Given the description of an element on the screen output the (x, y) to click on. 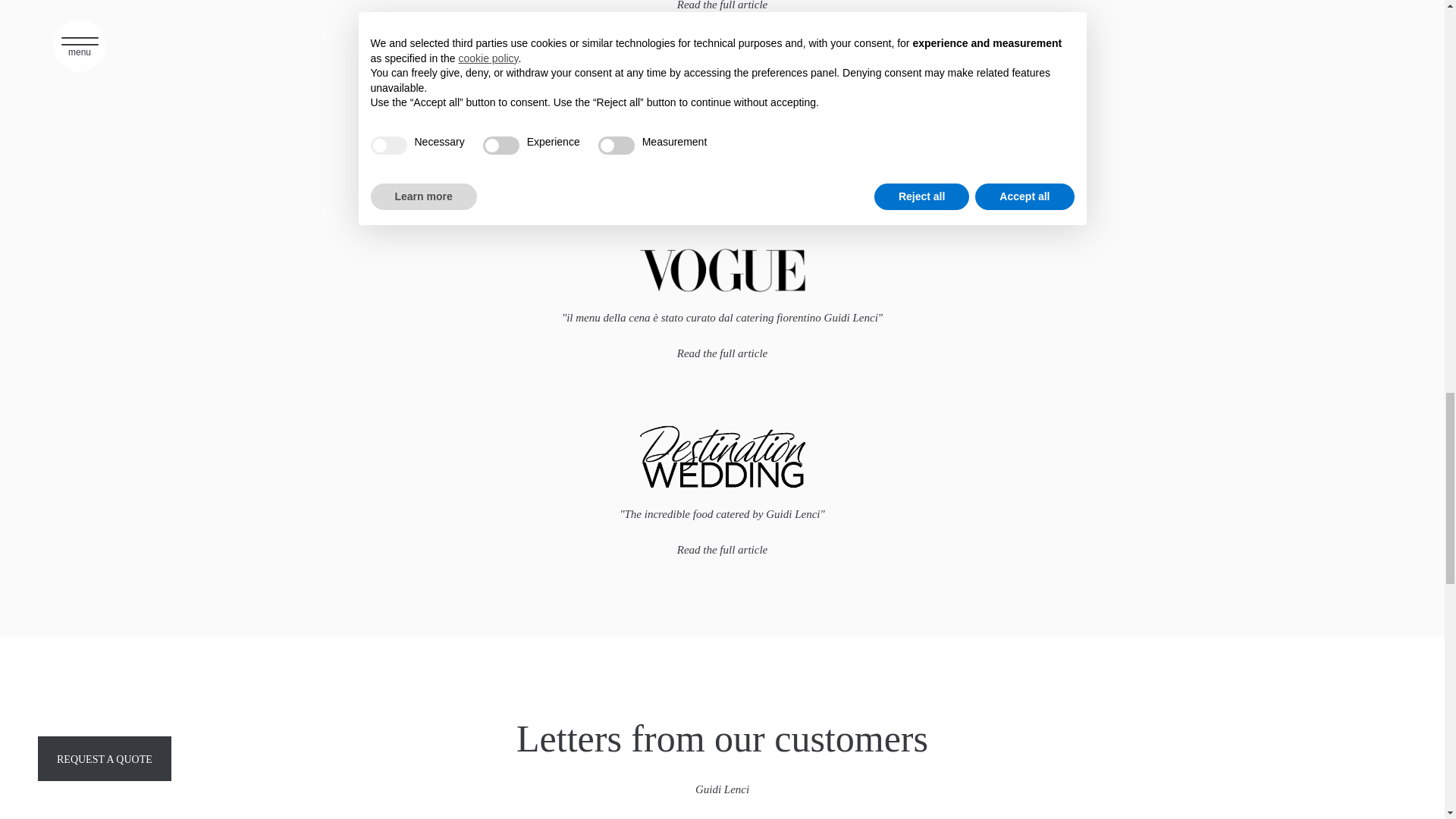
Read the full article (722, 353)
Read the full article (722, 5)
Read the full article (722, 550)
Read the full article (722, 176)
